Given the description of an element on the screen output the (x, y) to click on. 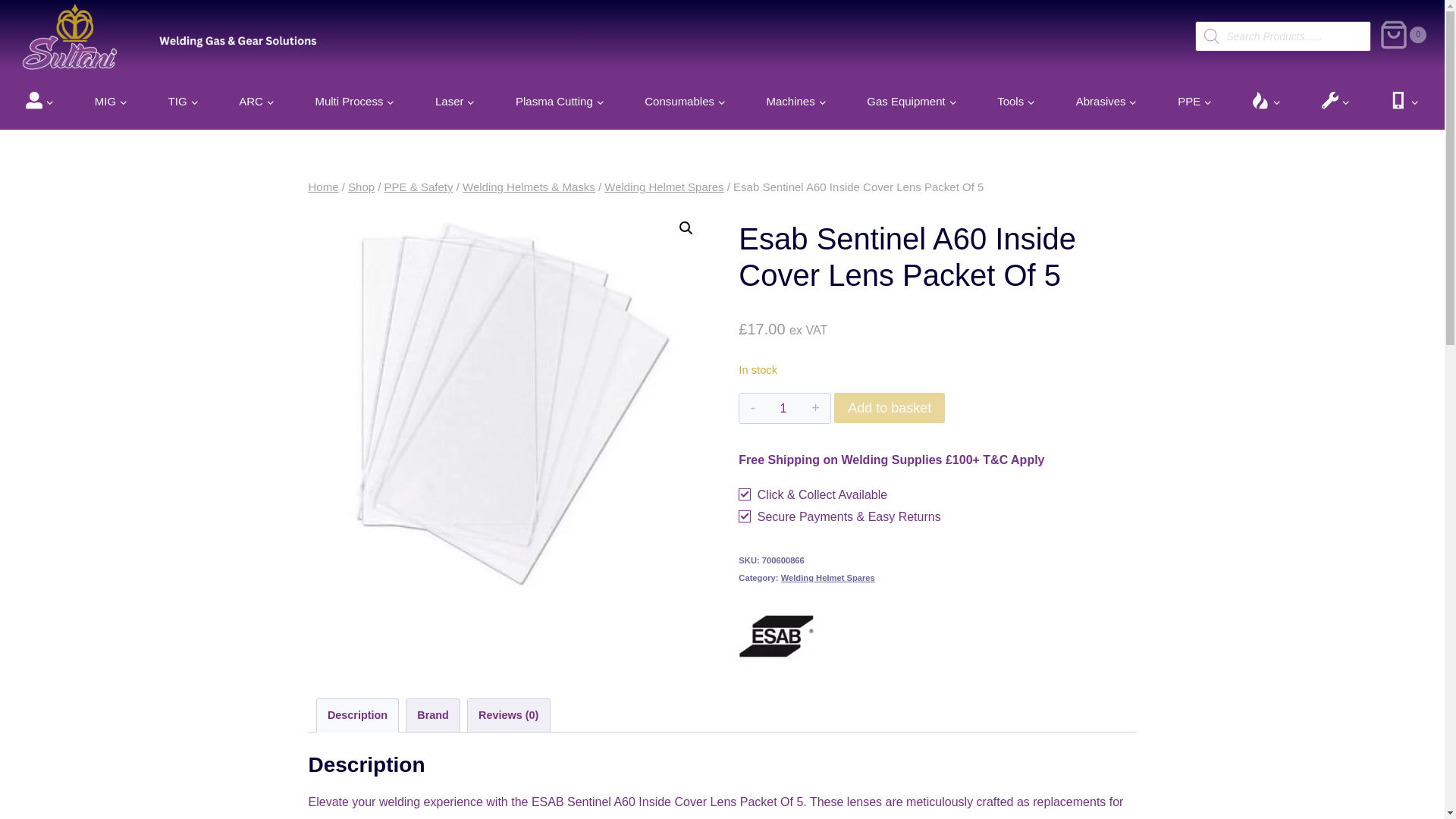
1 (783, 408)
ESAB Welding (775, 636)
0 (1402, 36)
TIG (183, 100)
Log in (356, 391)
- (752, 407)
MIG (111, 100)
